Given the description of an element on the screen output the (x, y) to click on. 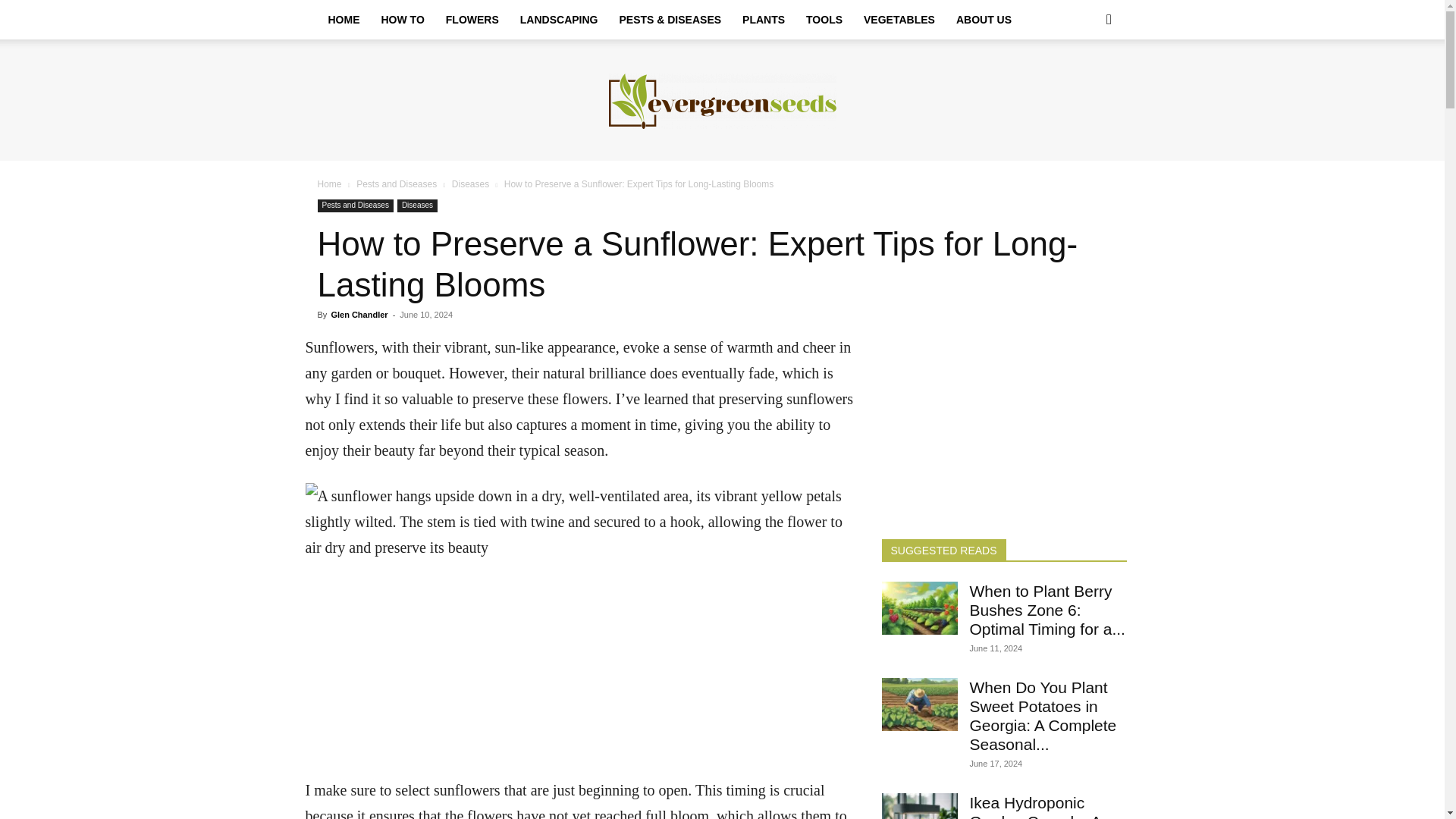
View all posts in Pests and Diseases (396, 184)
View all posts in Diseases (470, 184)
